Given the description of an element on the screen output the (x, y) to click on. 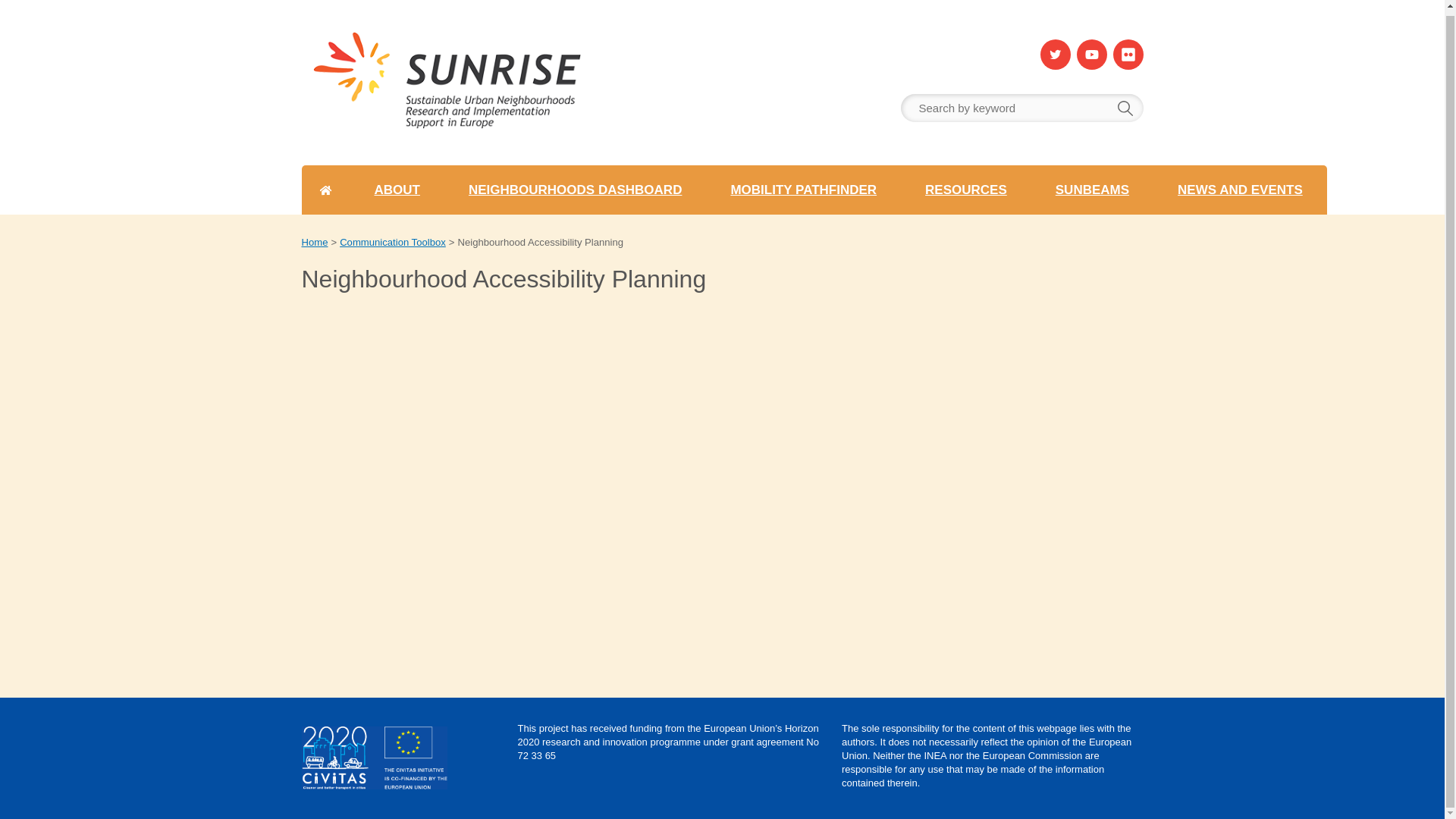
Go to Communication Toolbox. (392, 242)
Go to Home. (314, 242)
Search Icon (1125, 108)
Search for: (1021, 108)
